Given the description of an element on the screen output the (x, y) to click on. 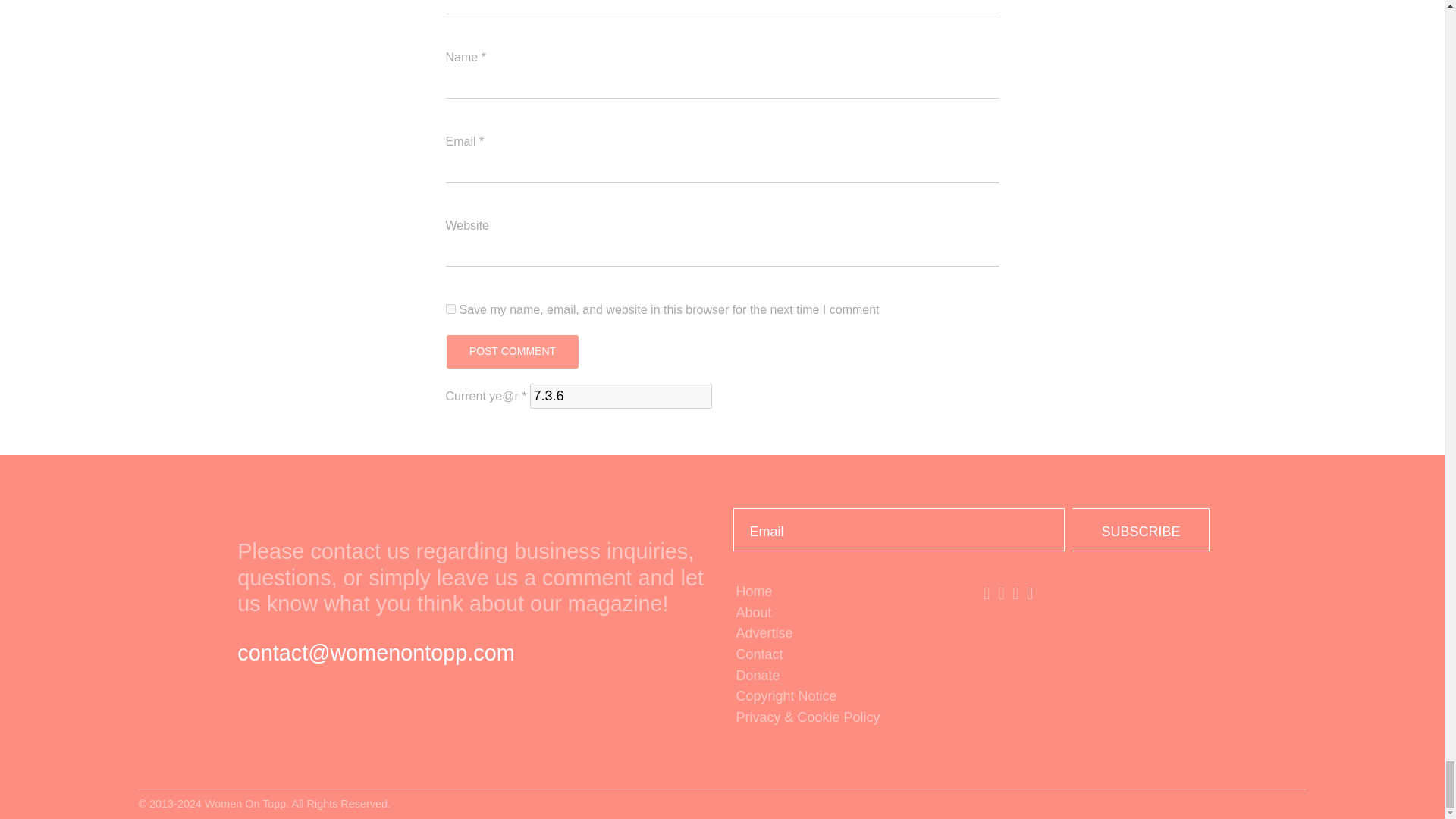
Advertise (845, 633)
Home (845, 591)
Post Comment (511, 351)
7.3.6 (620, 396)
About (845, 613)
yes (450, 308)
Subscribe (1140, 529)
